Given the description of an element on the screen output the (x, y) to click on. 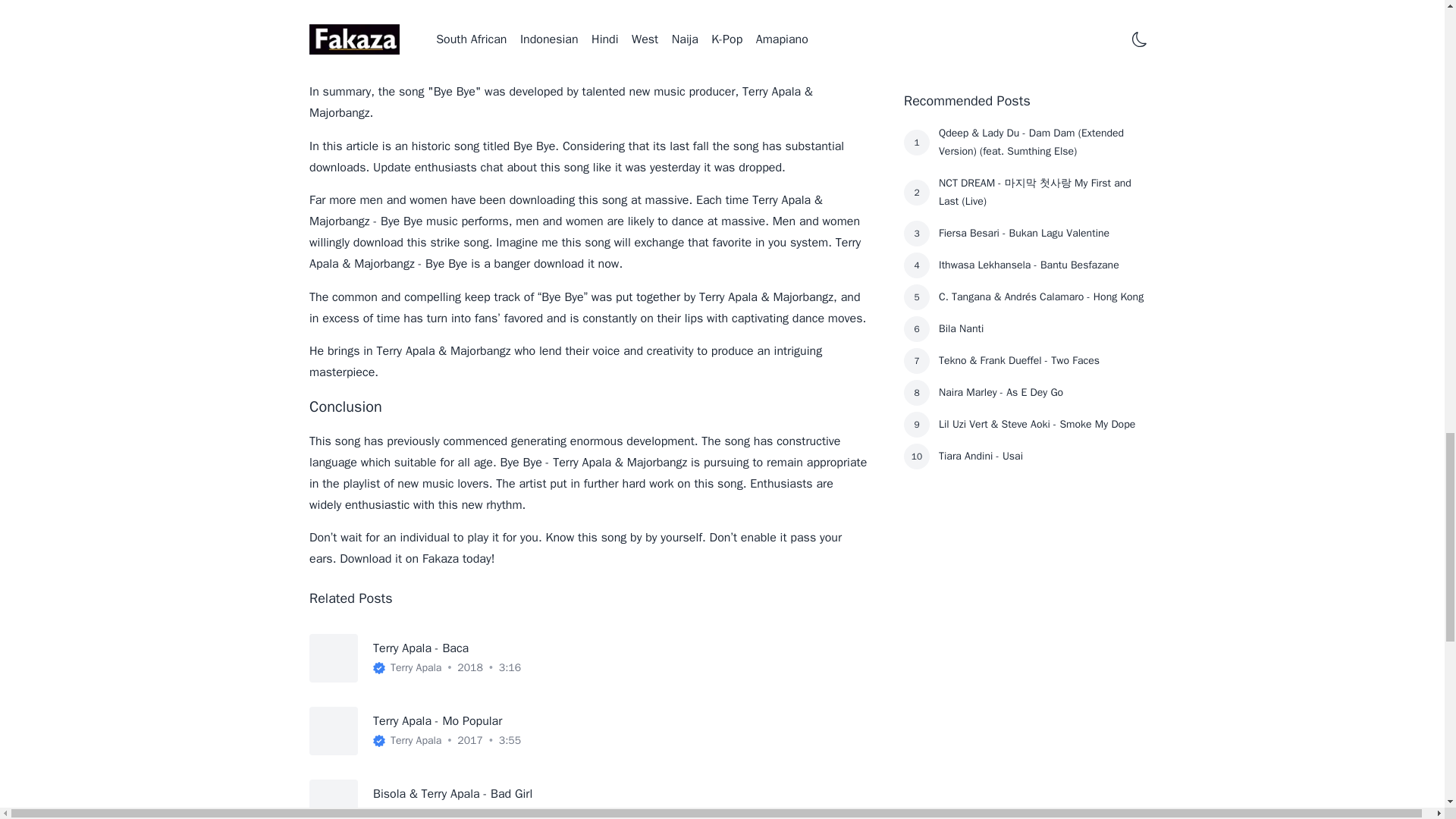
Terry Apala - Baca (420, 648)
Terry Apala - Baca (420, 648)
Terry Apala - Mo Popular (437, 720)
Terry Apala - Mo Popular (437, 720)
